Given the description of an element on the screen output the (x, y) to click on. 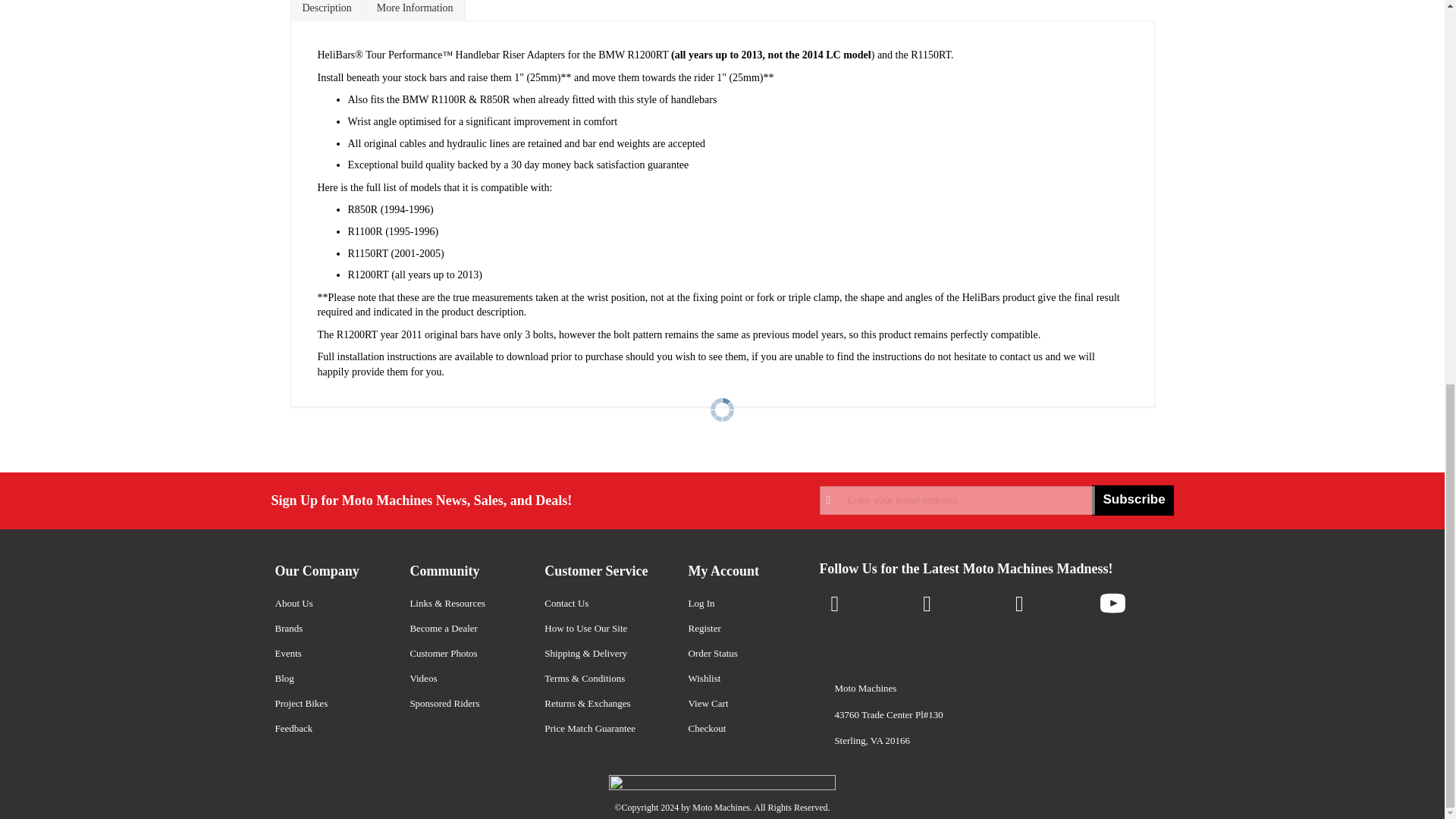
Subscribe (1133, 500)
Brands (288, 627)
About Us (294, 603)
